Given the description of an element on the screen output the (x, y) to click on. 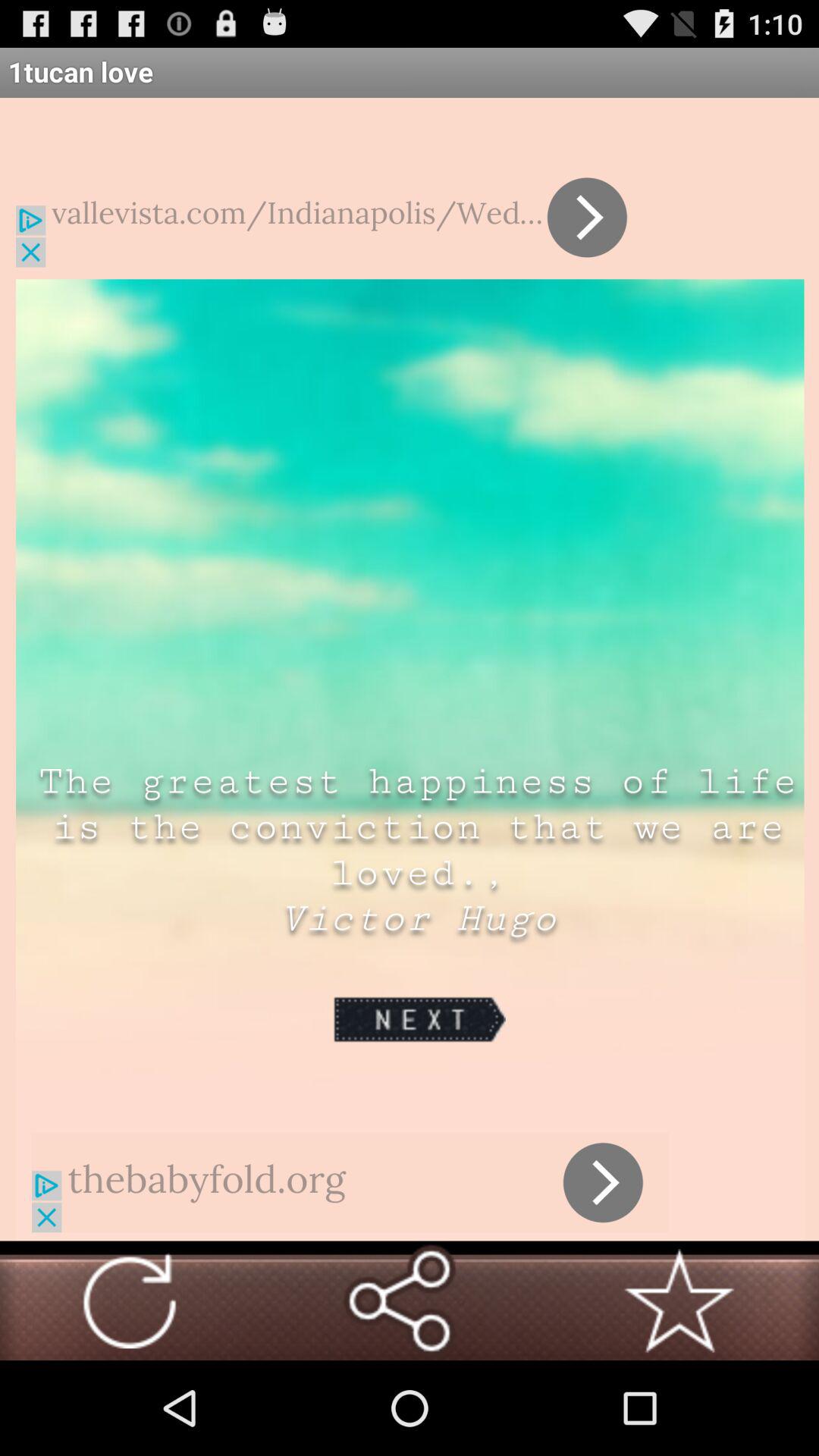
favorite (679, 1300)
